Given the description of an element on the screen output the (x, y) to click on. 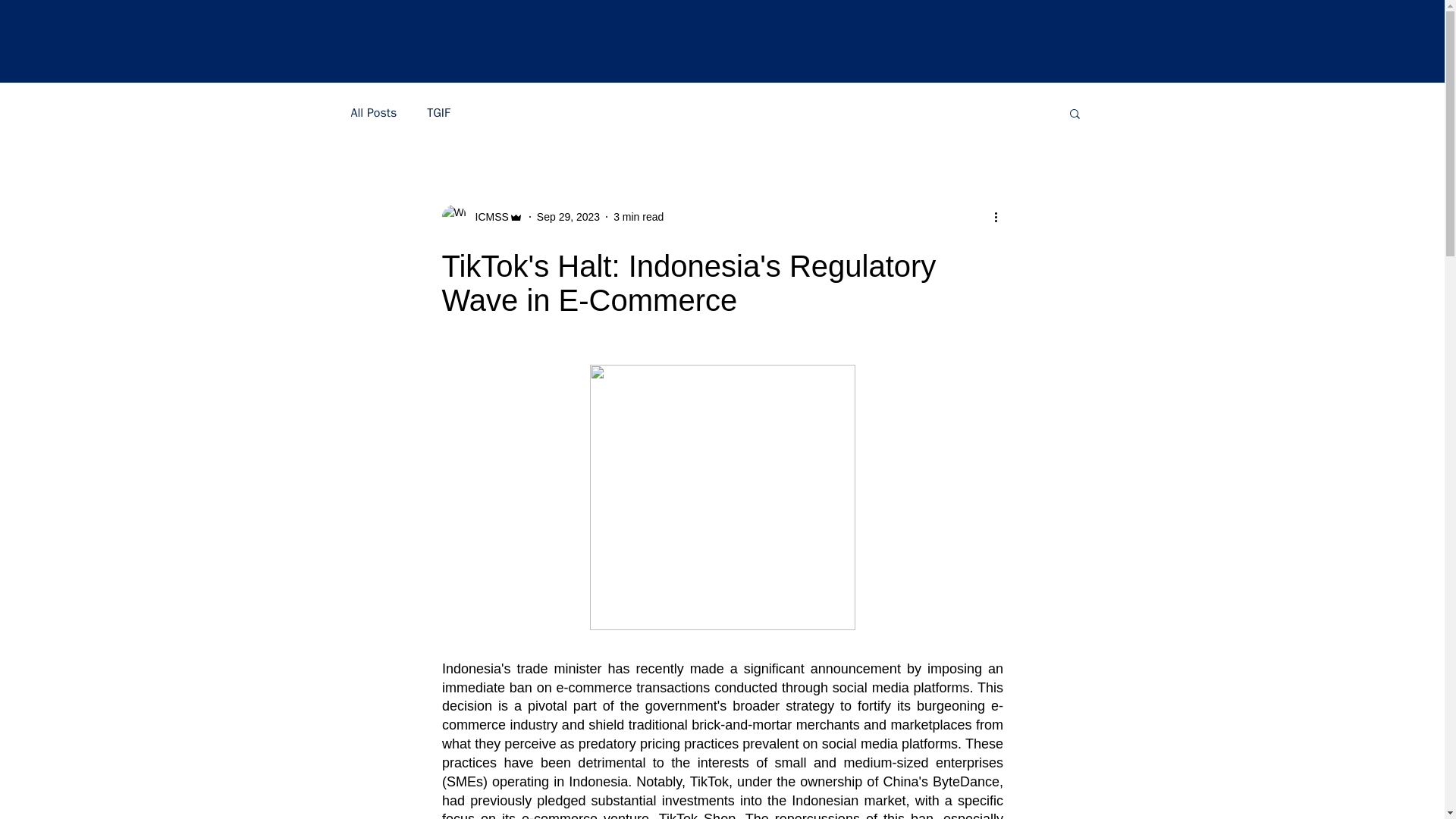
All Posts (373, 112)
TGIF (437, 112)
Sep 29, 2023 (568, 216)
ICMSS (486, 217)
3 min read (637, 216)
